Given the description of an element on the screen output the (x, y) to click on. 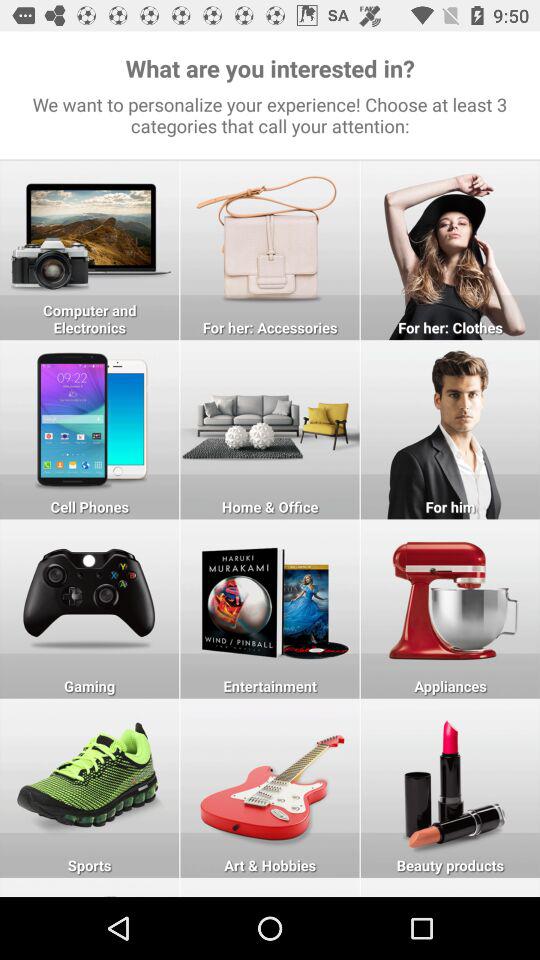
choose the selection (89, 787)
